Given the description of an element on the screen output the (x, y) to click on. 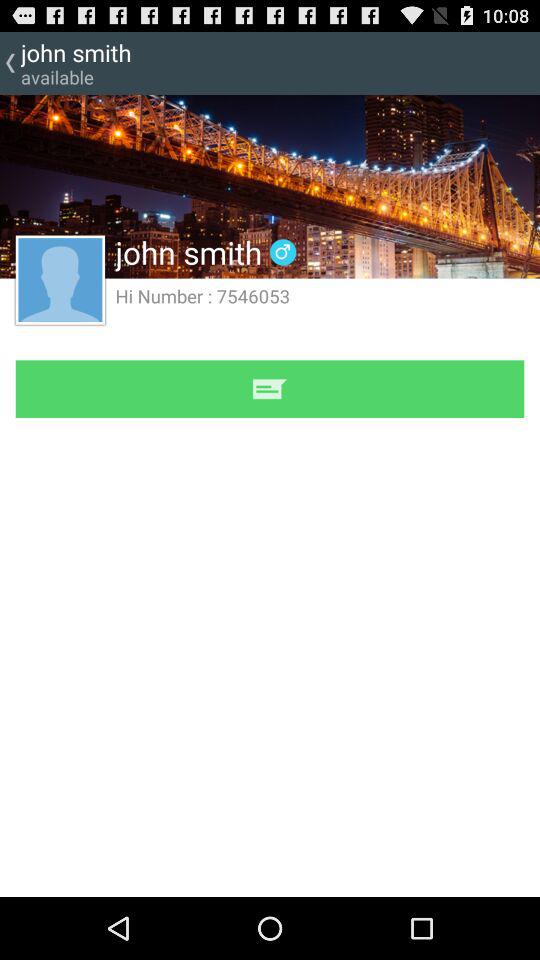
turn off icon to the right of john smith (282, 251)
